Given the description of an element on the screen output the (x, y) to click on. 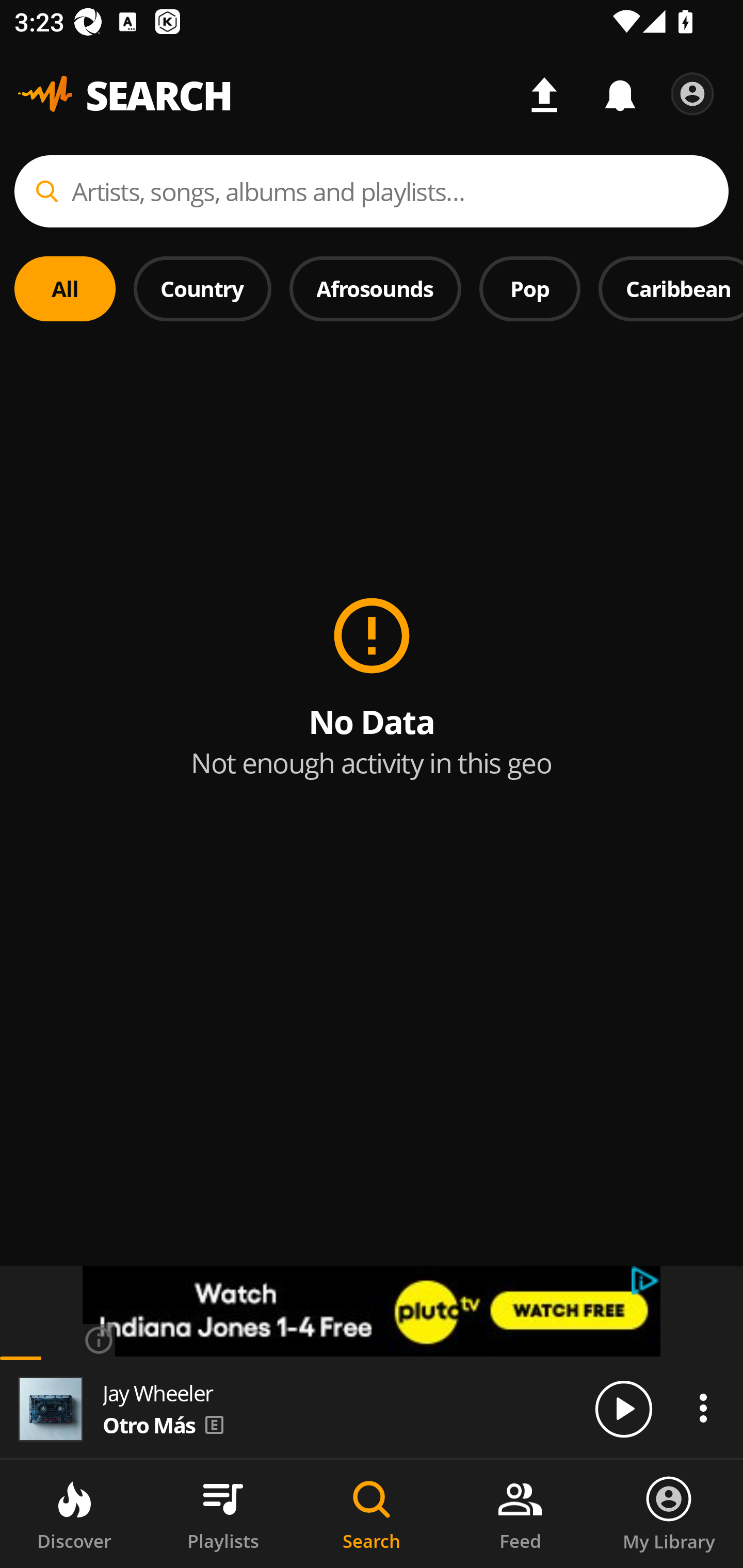
Settings (692, 94)
Artists, songs, albums and playlists… (371, 191)
All (64, 288)
Country (202, 288)
Afrosounds (375, 288)
Pop (529, 288)
Caribbean (670, 288)
lt4wsz9p_fiz3yzo_gk444shsqxpjqaig (371, 1311)
privacy (645, 1280)
Actions (703, 1407)
Play/Pause (623, 1408)
Discover (74, 1513)
Playlists (222, 1513)
Search (371, 1513)
Feed (519, 1513)
My Library (668, 1513)
